Given the description of an element on the screen output the (x, y) to click on. 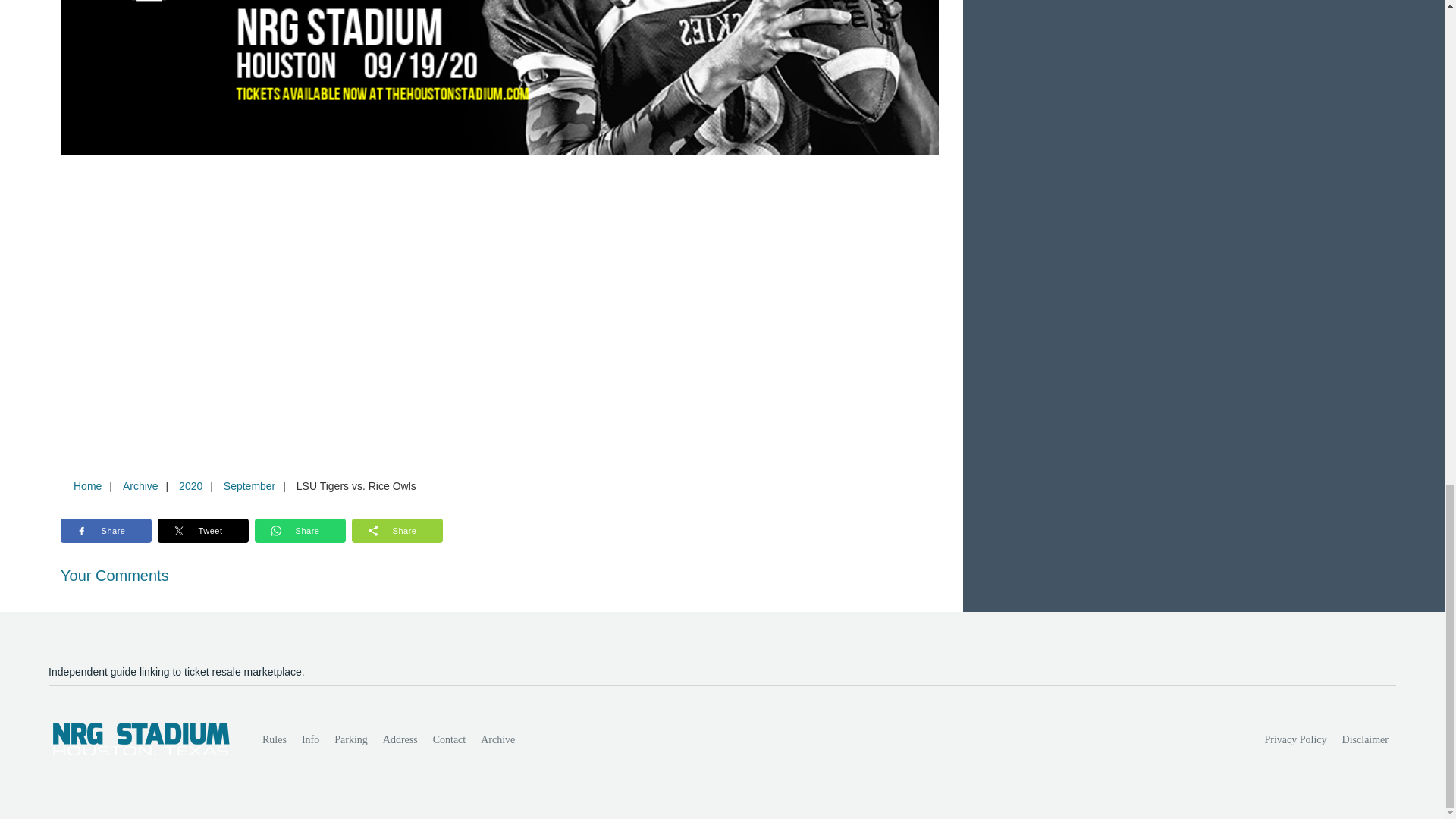
Contact (449, 739)
Archive (497, 739)
September (248, 485)
Rules (274, 739)
Address (400, 739)
Disclaimer (1365, 739)
Archive (140, 485)
Info (310, 739)
Privacy Policy (1296, 739)
Parking (350, 739)
